Given the description of an element on the screen output the (x, y) to click on. 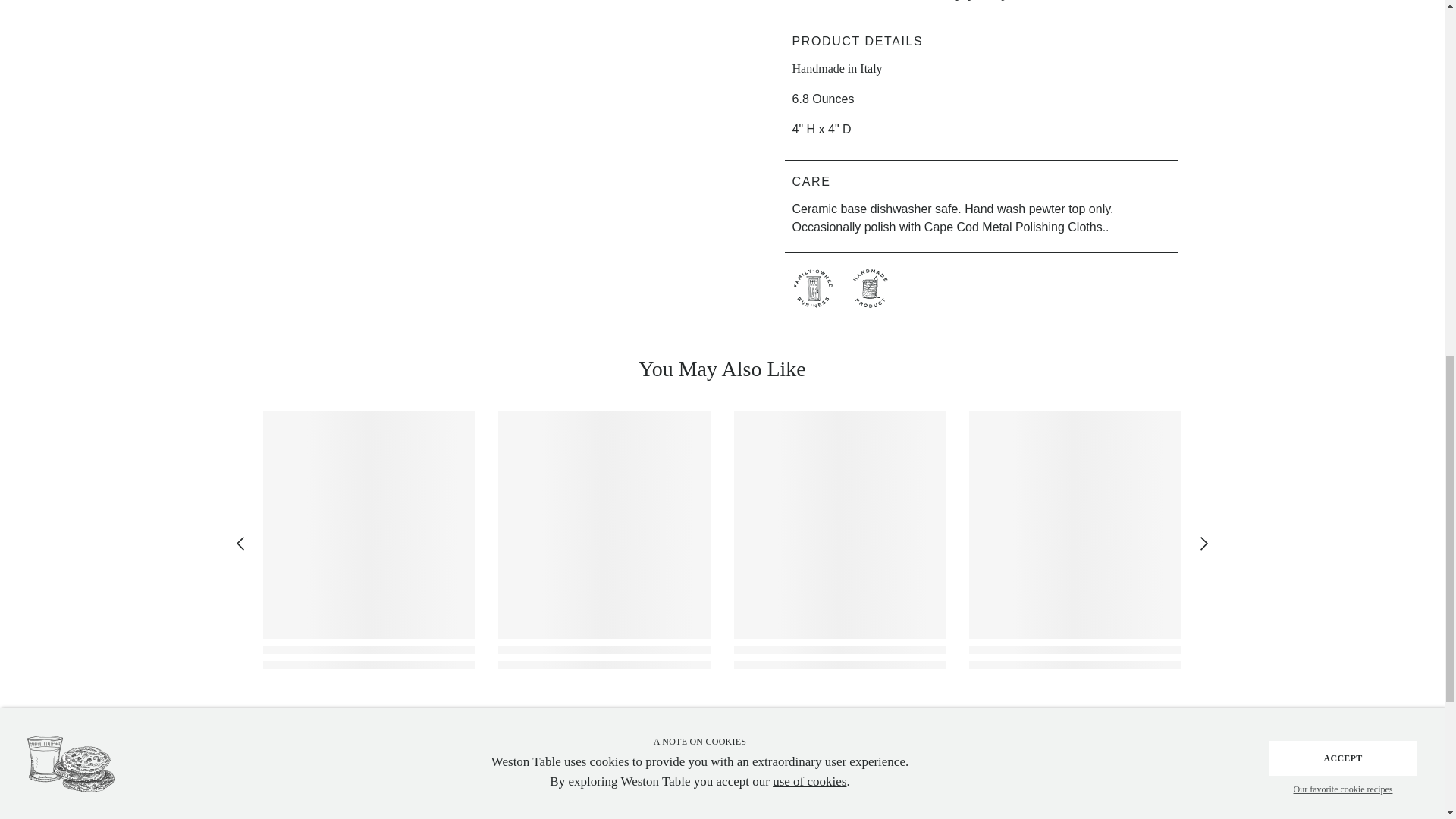
instagram Created with Sketch. (1002, 818)
Weston Table on Youtube (1041, 818)
Weston Table on Pinterest (962, 818)
Weston Table on Instagram (1002, 818)
facebook Created with Sketch. (923, 818)
Weston Table on TikTok (1080, 818)
Weston Table on Facebook (923, 818)
pinterest-circular-logo-symbol Created with Sketch. (962, 818)
